Given the description of an element on the screen output the (x, y) to click on. 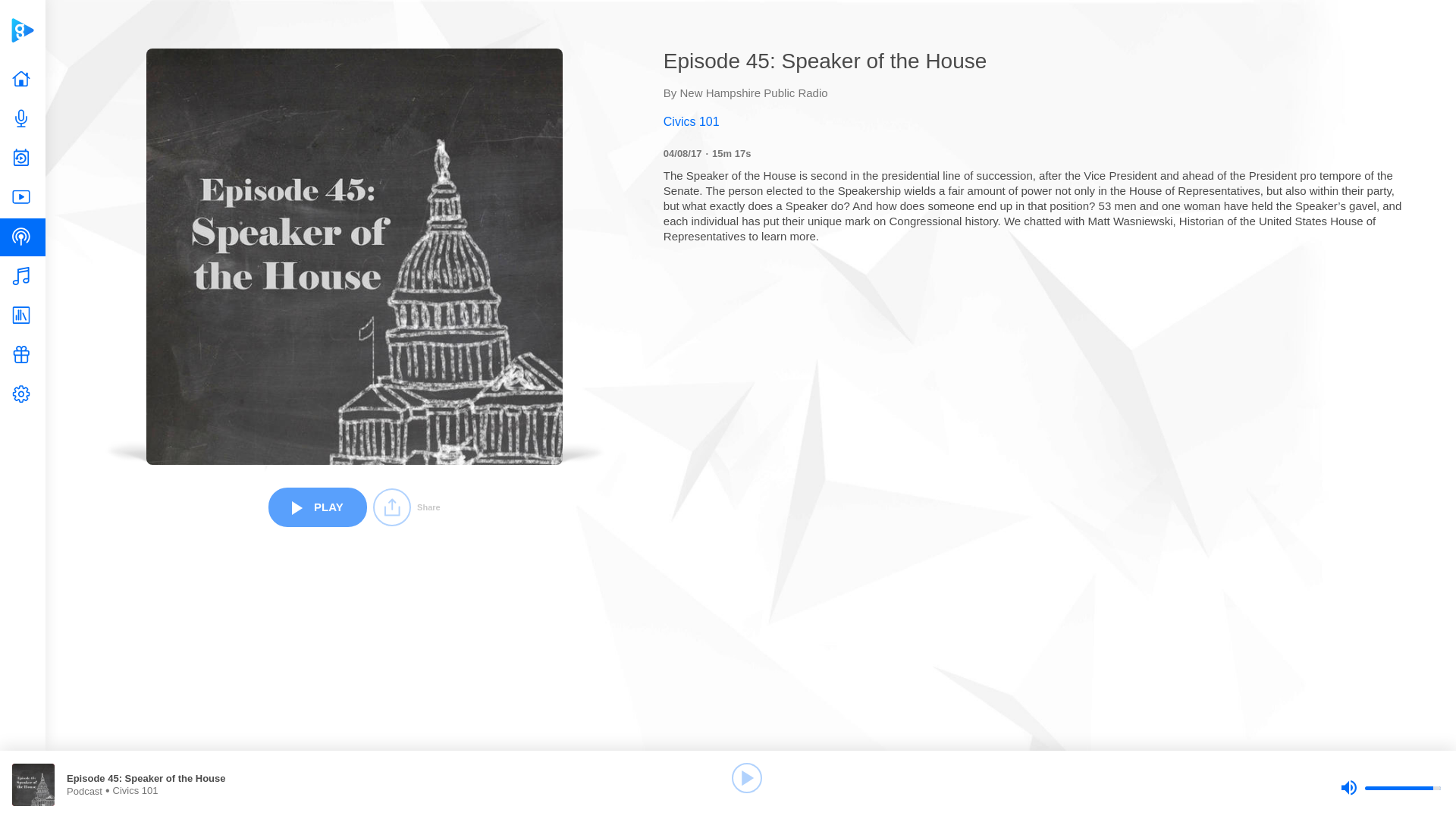
Global Player (22, 30)
Share (406, 507)
Share (406, 507)
Global Player (22, 30)
Civics 101 (1035, 121)
PLAY (316, 507)
